Given the description of an element on the screen output the (x, y) to click on. 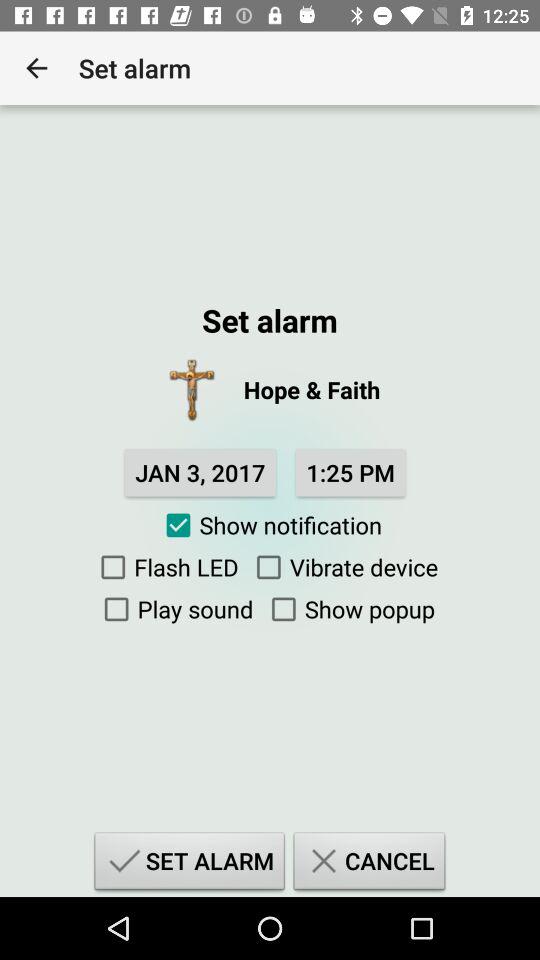
select the icon next to set alarm app (36, 68)
